Given the description of an element on the screen output the (x, y) to click on. 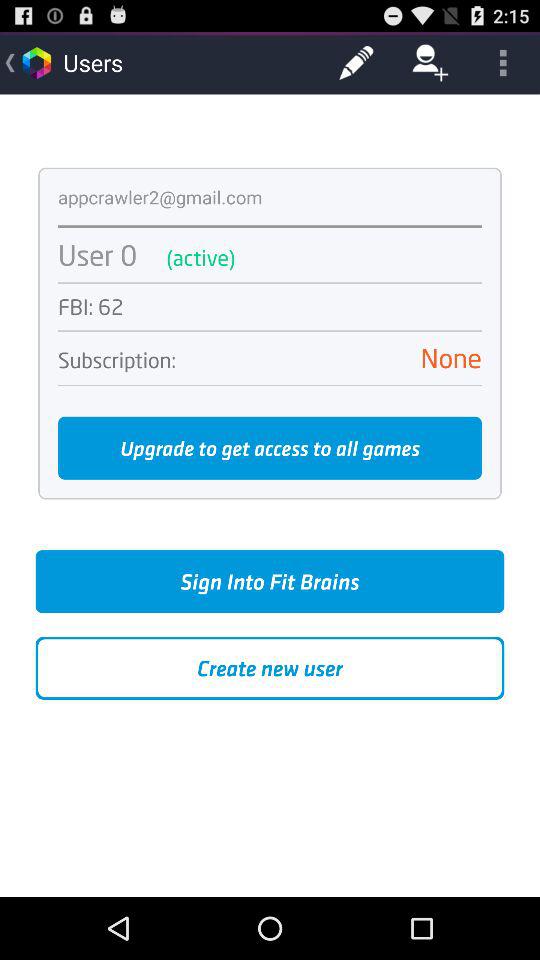
swipe to appcrawler2@gmail.com icon (160, 196)
